Given the description of an element on the screen output the (x, y) to click on. 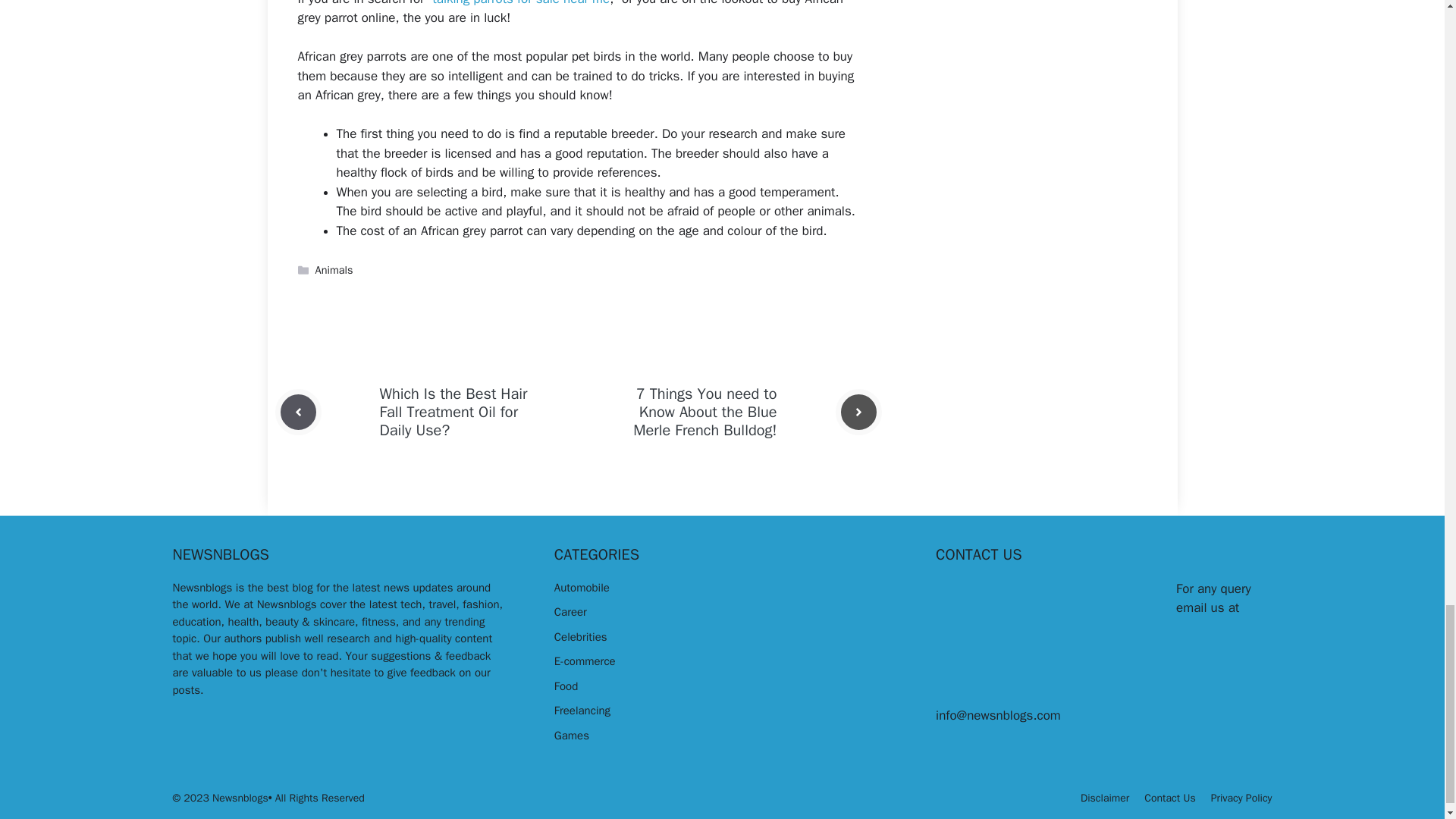
Animals (334, 269)
Automobile (582, 587)
E-commerce (584, 661)
Games (571, 735)
Celebrities (580, 636)
Career (570, 612)
Food (566, 685)
Freelancing (582, 710)
Newsnblogs (202, 587)
